Given the description of an element on the screen output the (x, y) to click on. 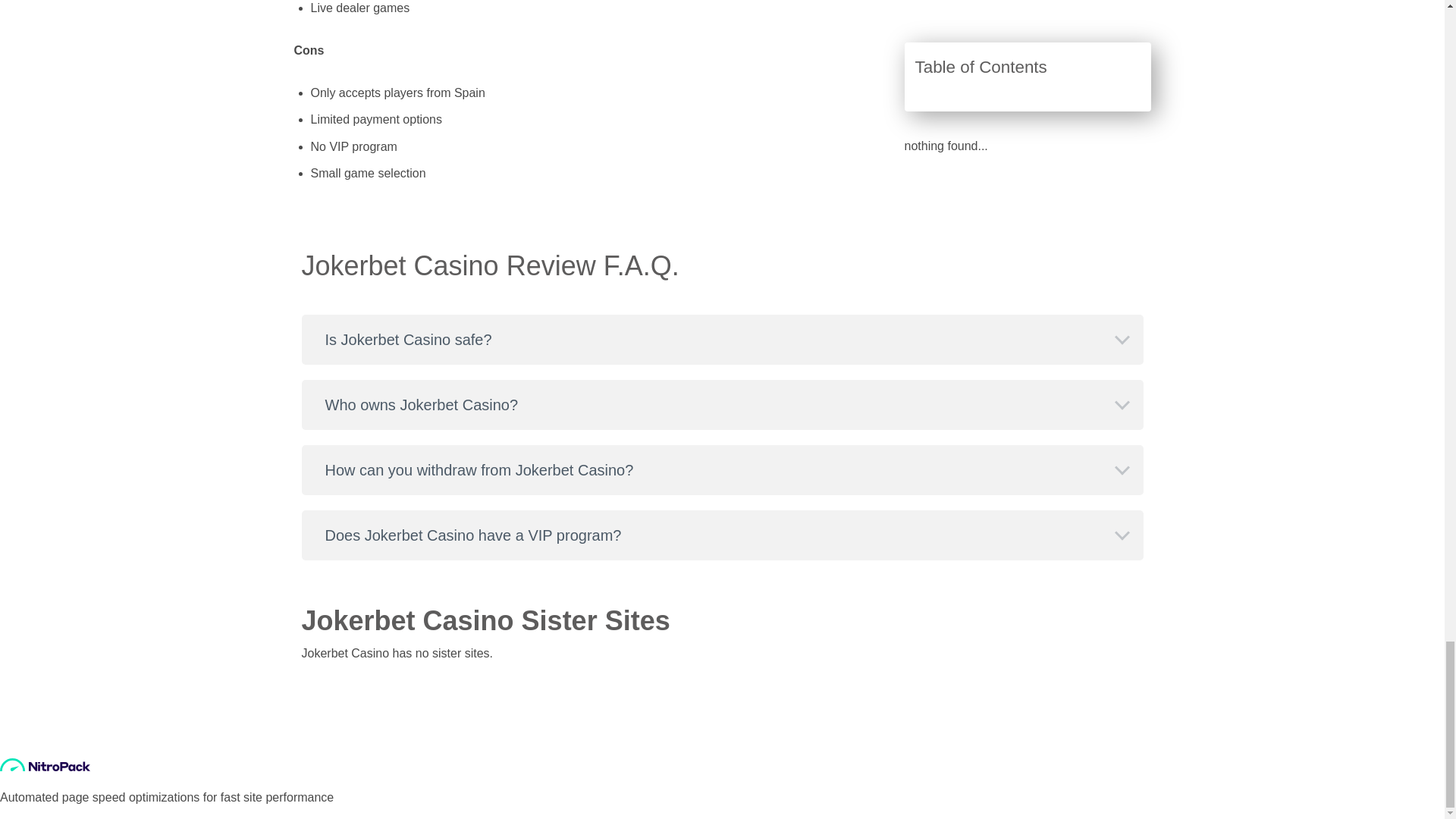
Does Jokerbet Casino have a VIP program? (721, 535)
Is Jokerbet Casino safe? (721, 339)
Who owns Jokerbet Casino? (721, 404)
How can you withdraw from Jokerbet Casino? (721, 470)
